Given the description of an element on the screen output the (x, y) to click on. 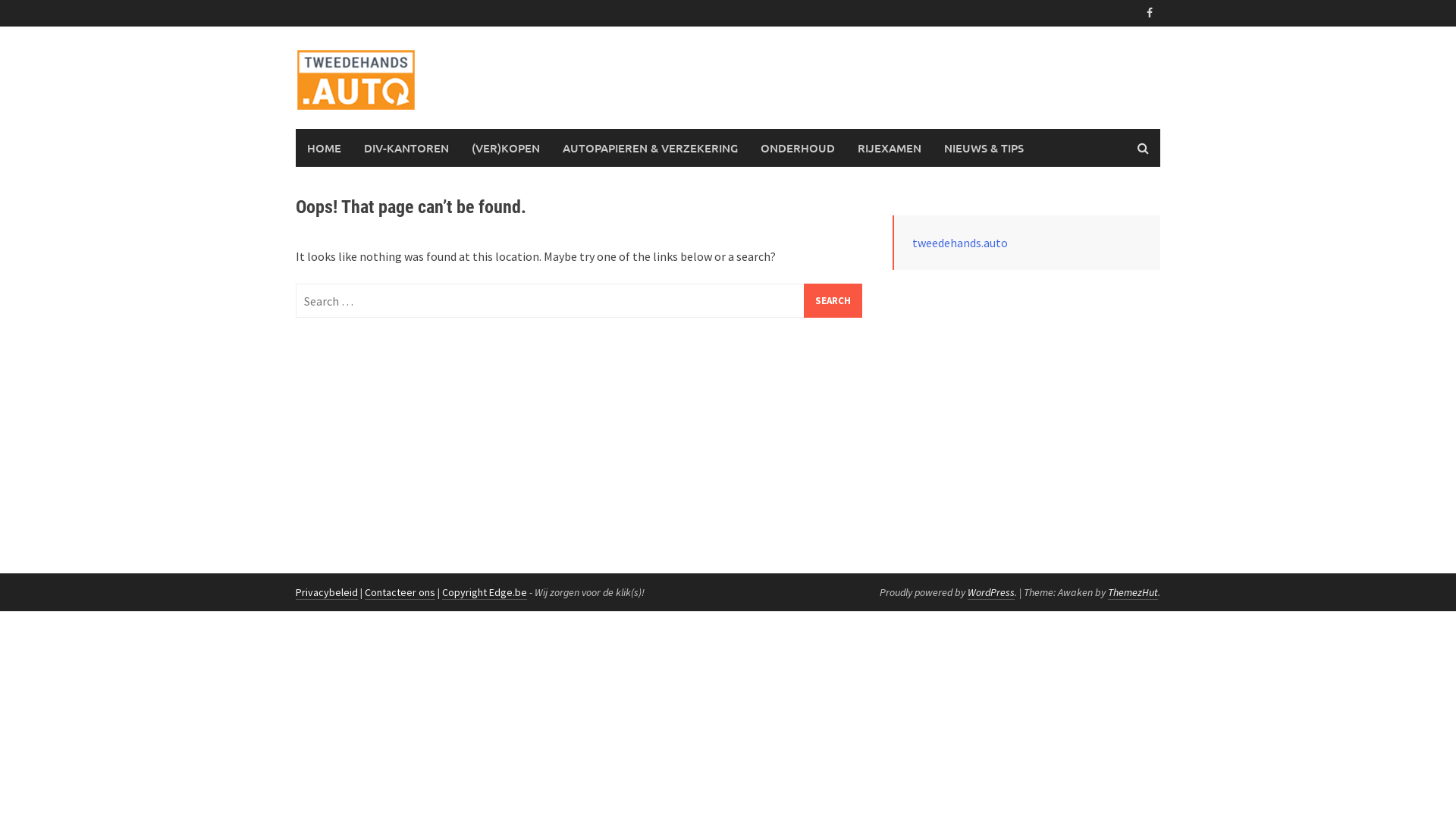
AUTOPAPIEREN & VERZEKERING Element type: text (650, 147)
WordPress Element type: text (990, 592)
NIEUWS & TIPS Element type: text (983, 147)
HOME Element type: text (323, 147)
Search Element type: text (832, 300)
ONDERHOUD Element type: text (797, 147)
Advertisement Element type: hover (1026, 406)
(VER)KOPEN Element type: text (505, 147)
Contacteer ons Element type: text (399, 592)
Copyright Edge.be Element type: text (484, 592)
Privacybeleid Element type: text (326, 592)
DIV-KANTOREN Element type: text (406, 147)
RIJEXAMEN Element type: text (889, 147)
tweedehands.auto Element type: text (959, 242)
ThemezHut Element type: text (1132, 592)
